Given the description of an element on the screen output the (x, y) to click on. 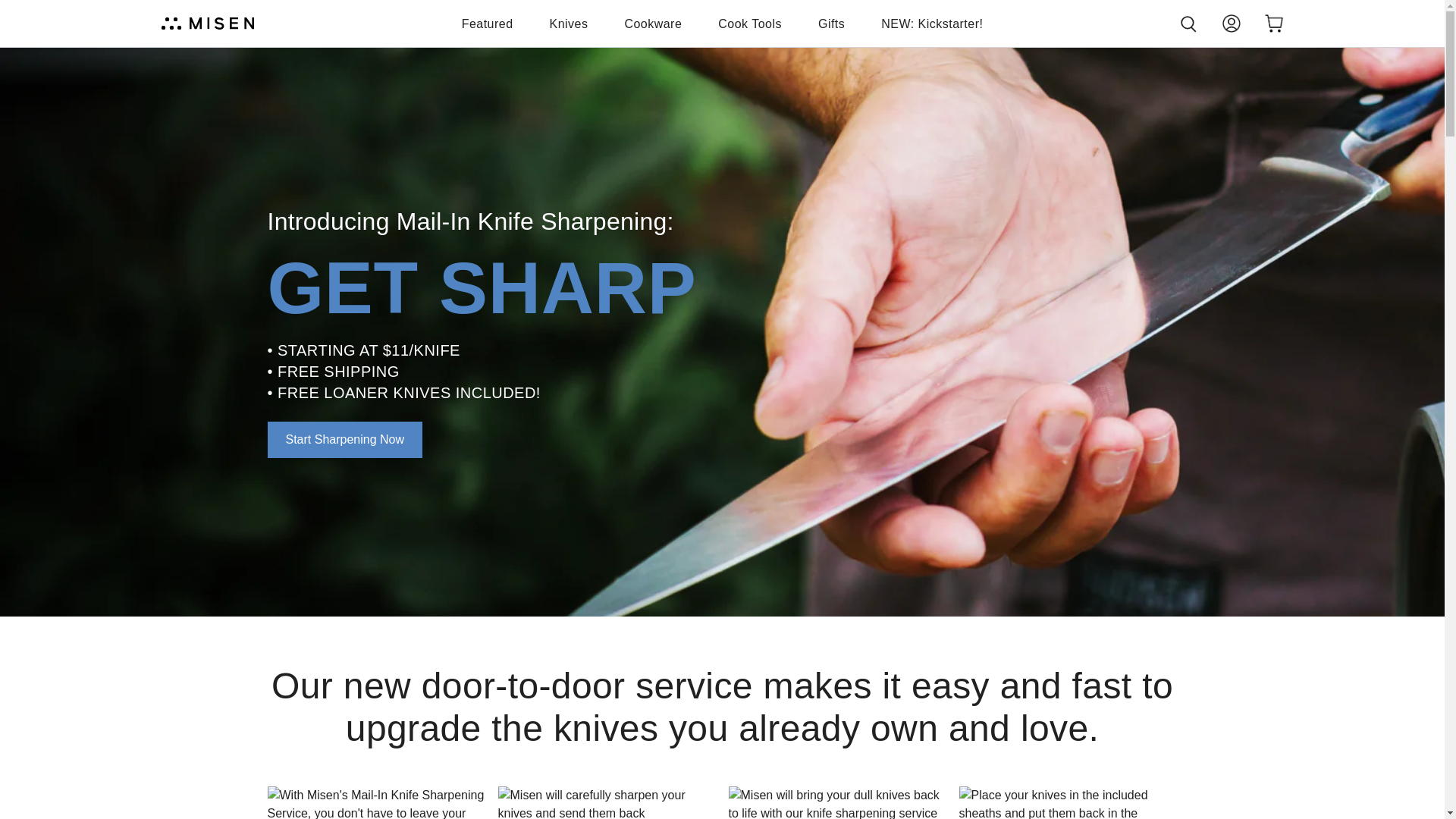
Knives (569, 24)
Skip to content (17, 8)
Featured (487, 24)
Cookware (652, 24)
NEW: Kickstarter! (931, 24)
Cook Tools (749, 24)
Gifts (831, 24)
